Given the description of an element on the screen output the (x, y) to click on. 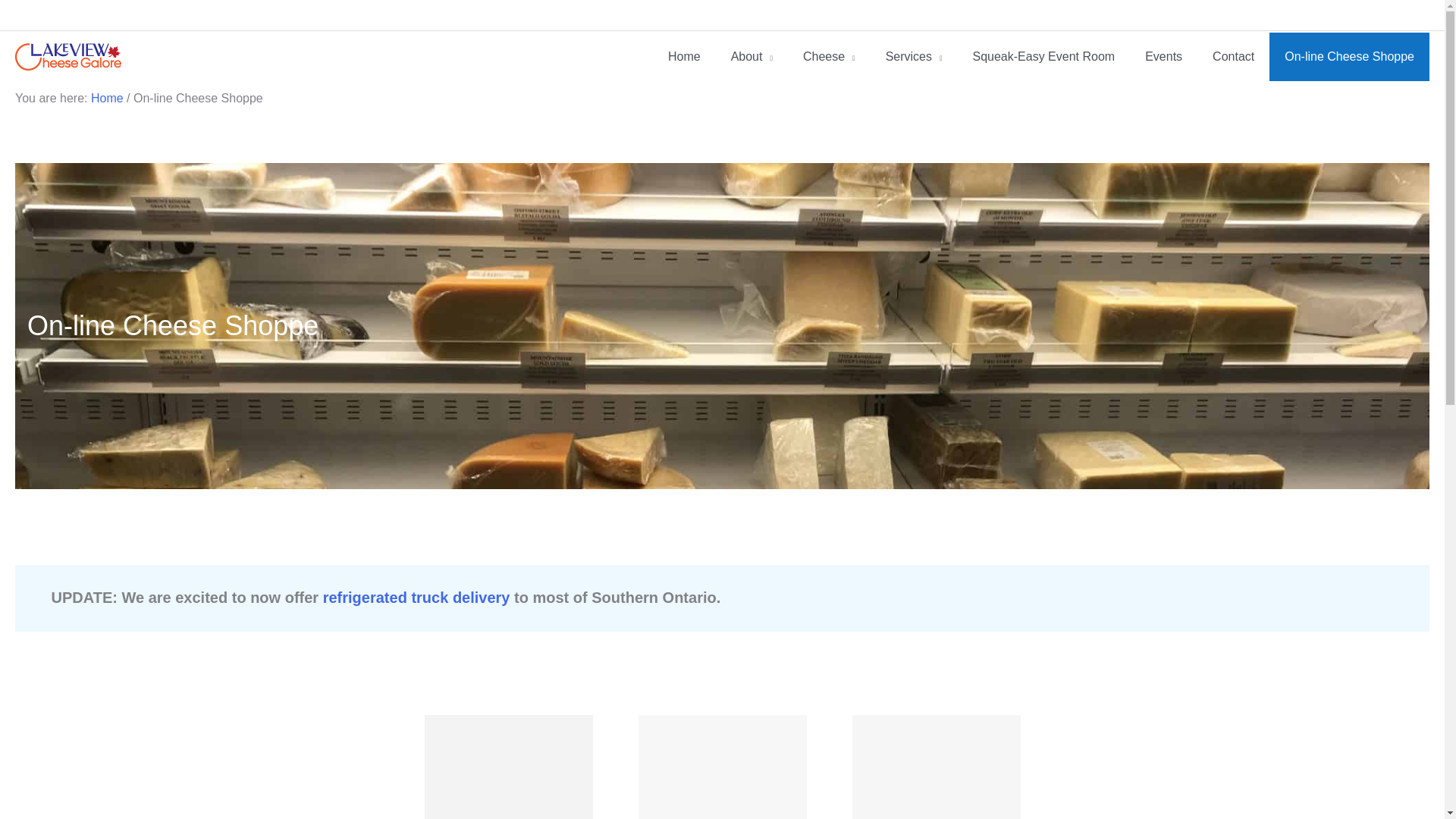
Home (106, 97)
Contact (1232, 56)
Squeak-Easy Event Room (1042, 56)
refrigerated truck delivery (417, 597)
Cheese (828, 56)
Services (914, 56)
On-line Cheese Shoppe (1349, 56)
Events (1162, 56)
Home (684, 56)
